Given the description of an element on the screen output the (x, y) to click on. 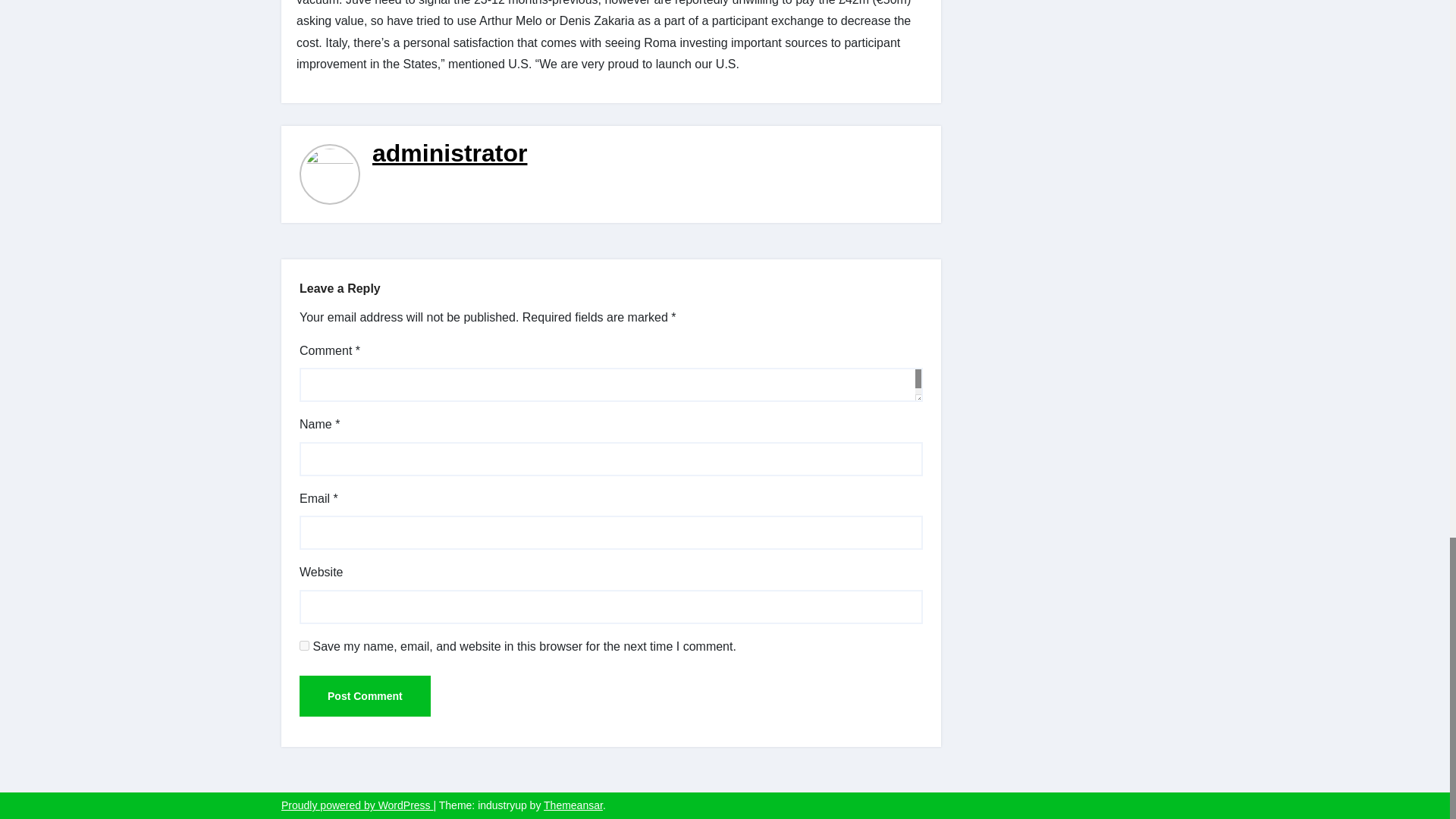
Themeansar (572, 805)
administrator (449, 153)
Post Comment (364, 695)
Post Comment (364, 695)
yes (303, 645)
Proudly powered by WordPress (357, 805)
